Given the description of an element on the screen output the (x, y) to click on. 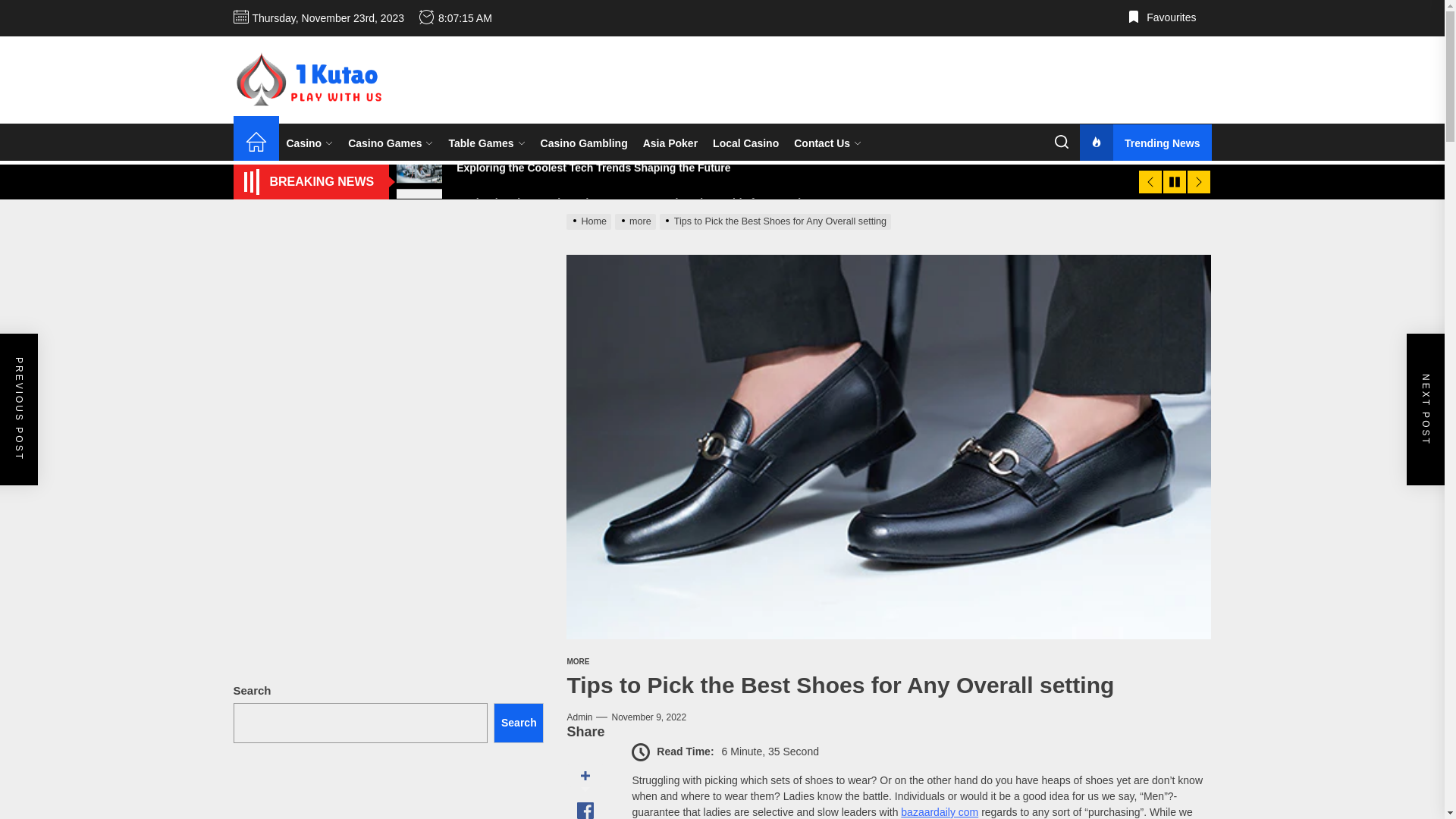
Tips to Pick the Best Shoes for Any Overall setting Element type: text (776, 221)
Trending News Element type: text (1145, 143)
Search Element type: text (518, 722)
Casino Gambling Element type: text (584, 143)
more Element type: text (637, 221)
Table Games Element type: text (486, 143)
Asia Poker Element type: text (670, 143)
Home Element type: hover (256, 143)
Favourites Element type: text (1161, 18)
Admin Element type: text (579, 717)
Local Casino Element type: text (745, 143)
MORE Element type: text (577, 661)
Casino Element type: text (310, 143)
November 9, 2022 Element type: text (648, 717)
bazaardaily com Element type: text (939, 812)
Casino Games Element type: text (390, 143)
Contact Us Element type: text (827, 143)
Home Element type: text (590, 221)
